Given the description of an element on the screen output the (x, y) to click on. 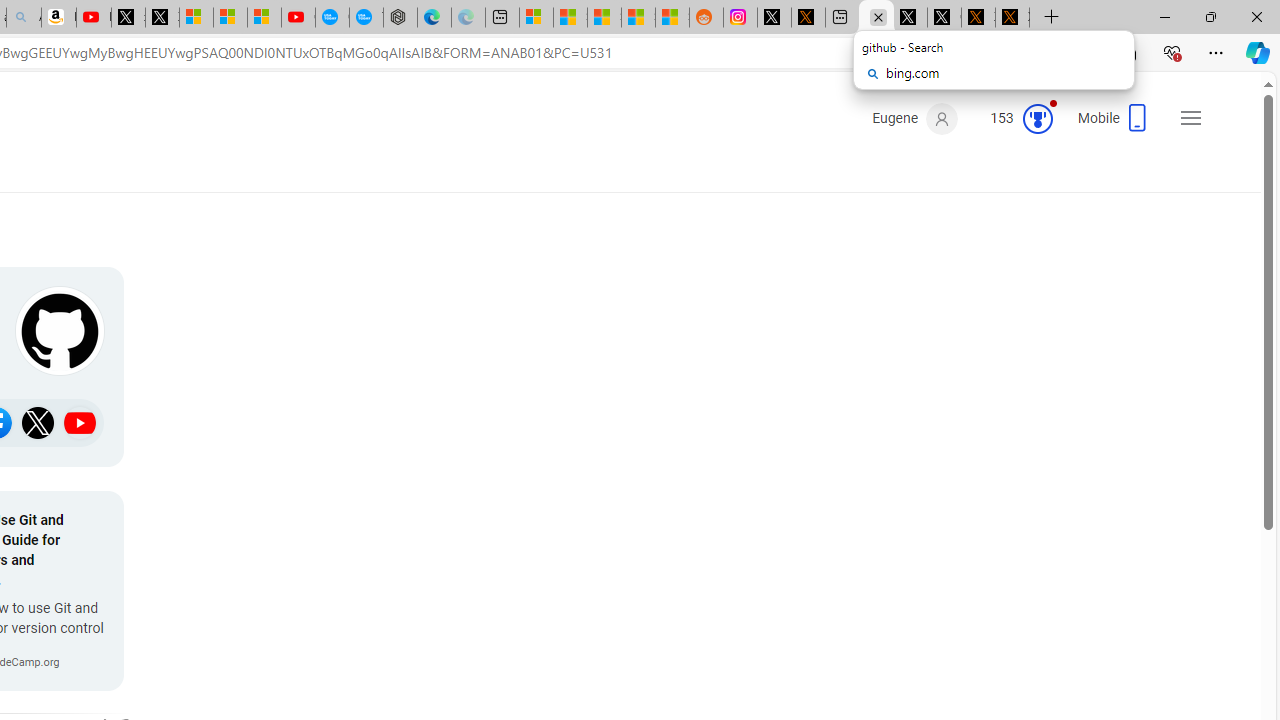
The most popular Google 'how to' searches (365, 17)
Microsoft account | Microsoft Account Privacy Settings (535, 17)
Profile / X (909, 17)
Gloom - YouTube (297, 17)
Microsoft Rewards 153 (1014, 119)
Nordace - Nordace has arrived Hong Kong (400, 17)
github - Search (876, 17)
Shanghai, China Weather trends | Microsoft Weather (671, 17)
